Given the description of an element on the screen output the (x, y) to click on. 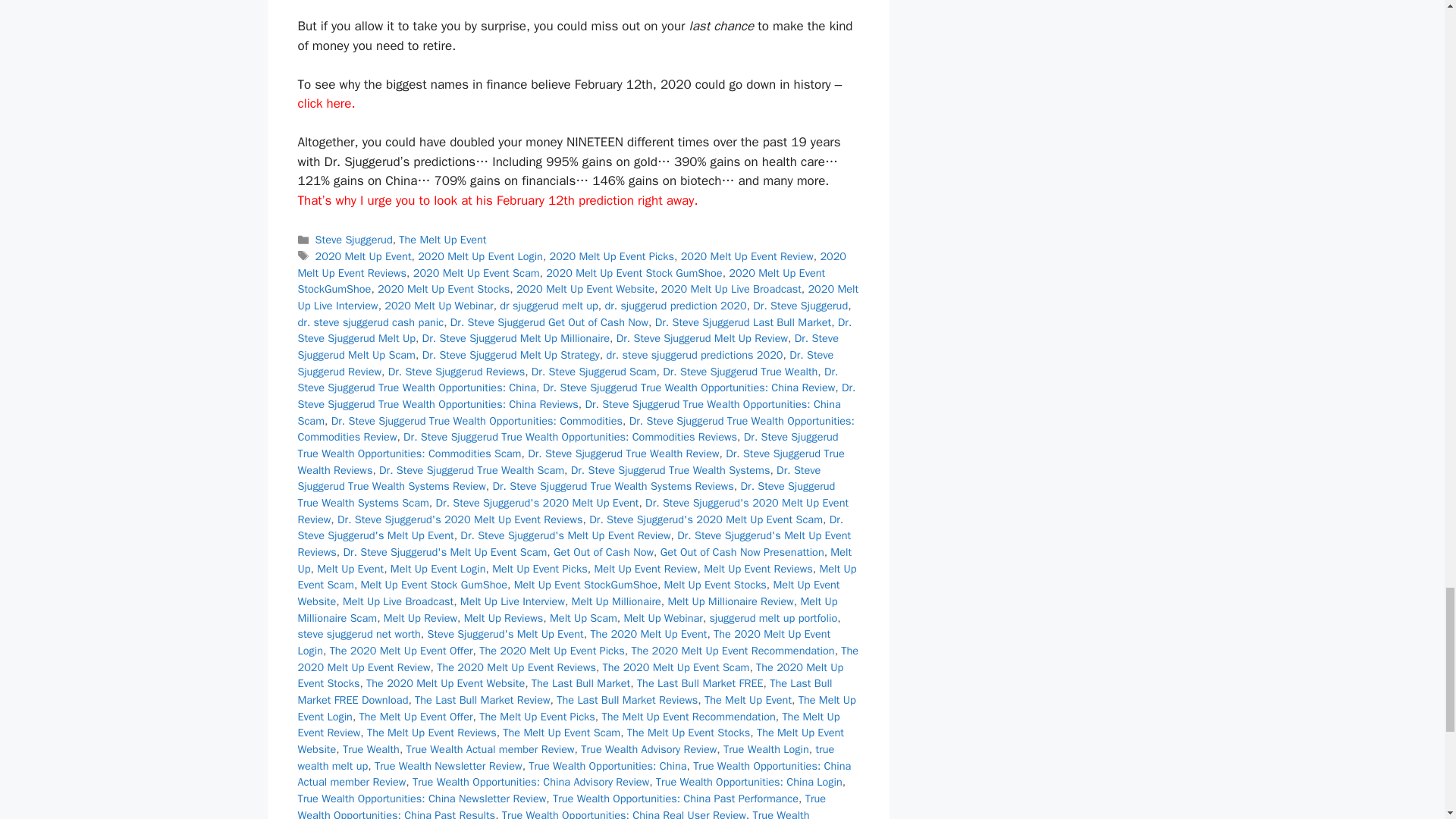
click here. (326, 103)
2020 Melt Up Event Login (480, 255)
The Melt Up Event (442, 239)
2020 Melt Up Event (363, 255)
Steve Sjuggerud (354, 239)
2020 Melt Up Event Picks (612, 255)
